Given the description of an element on the screen output the (x, y) to click on. 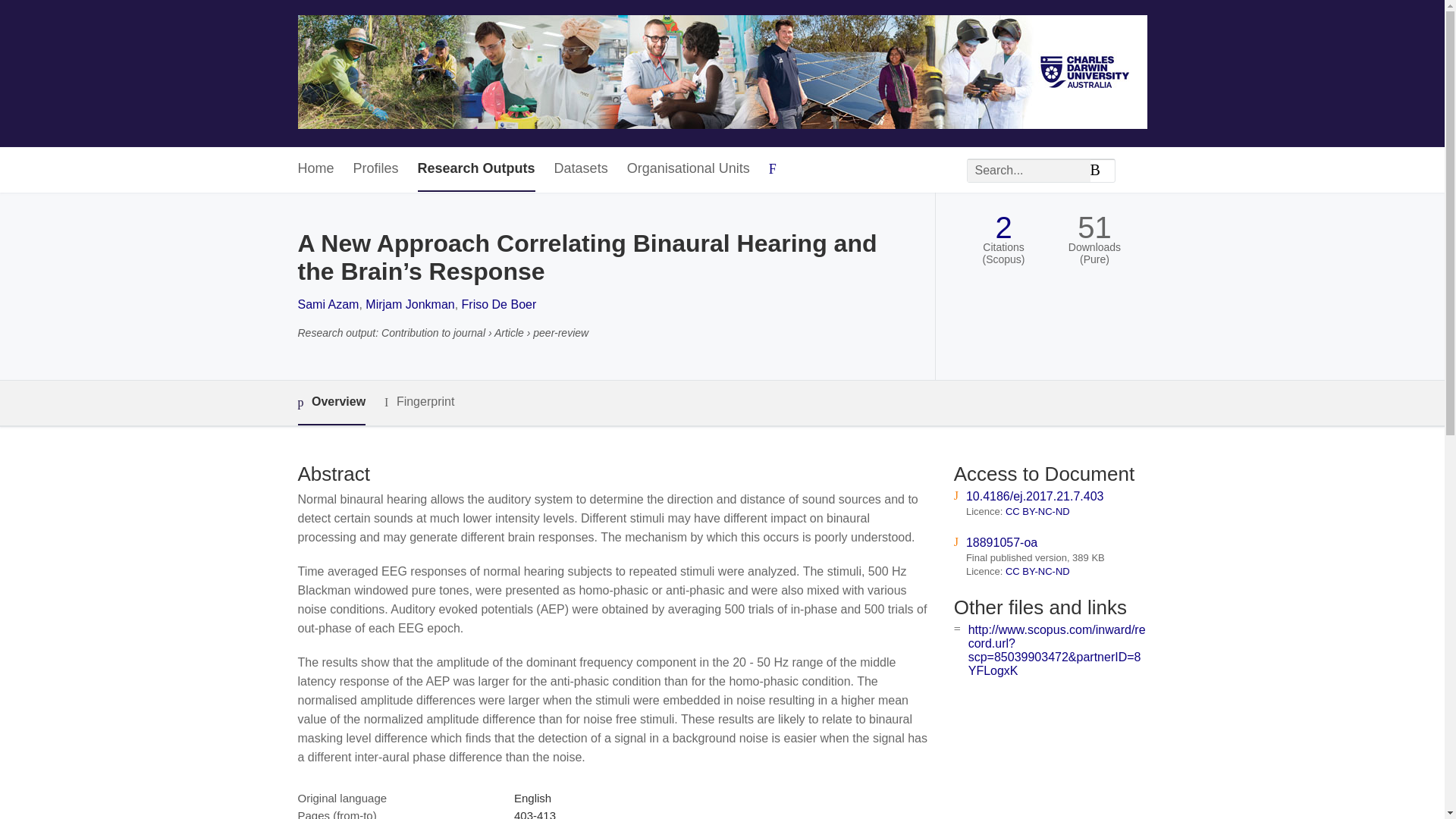
Overview (331, 402)
Fingerprint (419, 402)
CC BY-NC-ND (1038, 571)
CC BY-NC-ND (1038, 511)
Friso De Boer (499, 304)
Sami Azam (327, 304)
Profiles (375, 169)
Datasets (581, 169)
Mirjam Jonkman (409, 304)
Research Outputs (476, 169)
18891057-oa (1001, 542)
Charles Darwin University Home (722, 73)
Organisational Units (688, 169)
